Given the description of an element on the screen output the (x, y) to click on. 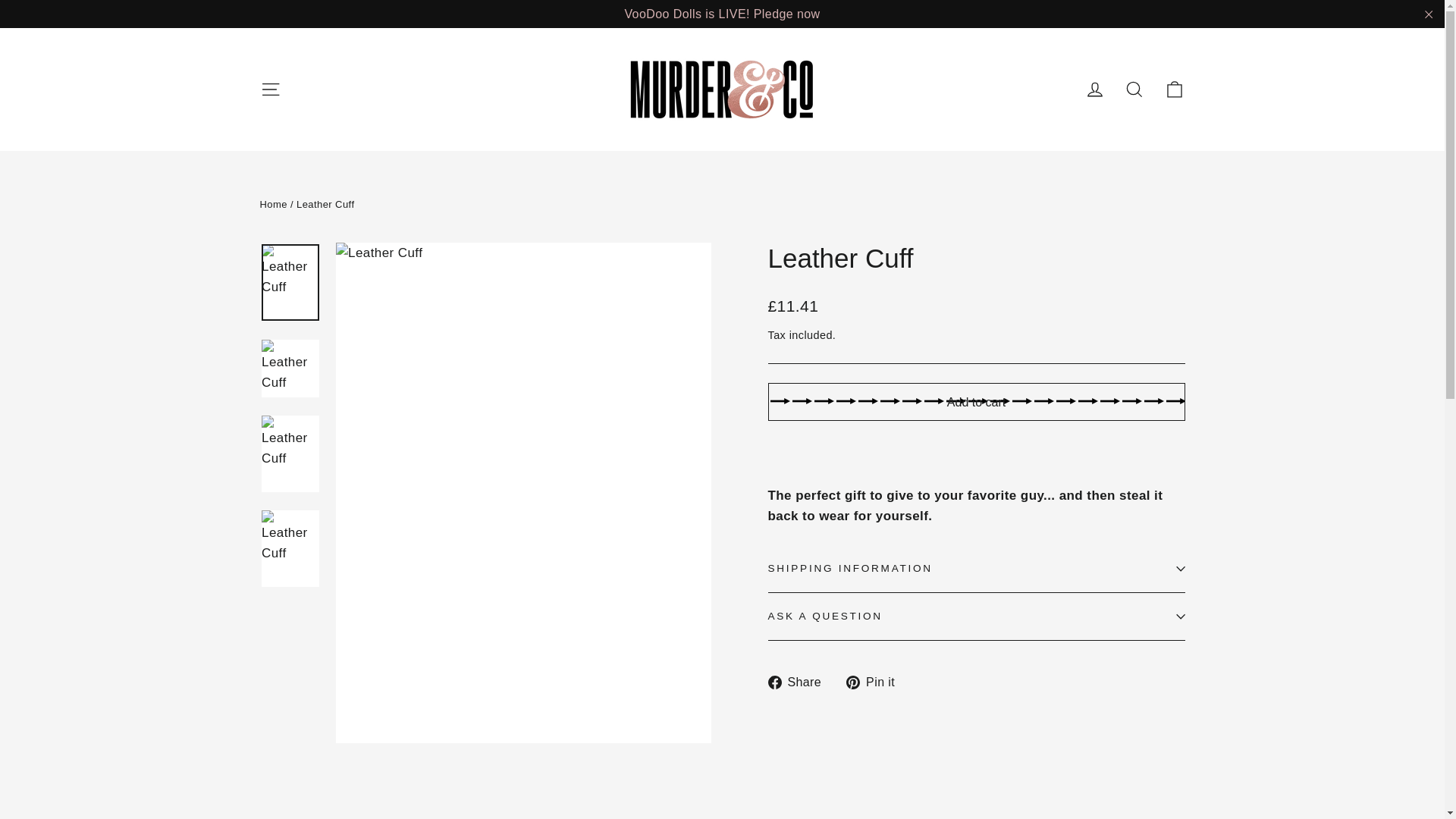
Search (1134, 89)
Log in (1095, 89)
Cart (1173, 89)
Site navigation (269, 89)
Pin on Pinterest (875, 681)
Share on Facebook (799, 681)
Back to the frontpage (272, 204)
Home (272, 204)
